Given the description of an element on the screen output the (x, y) to click on. 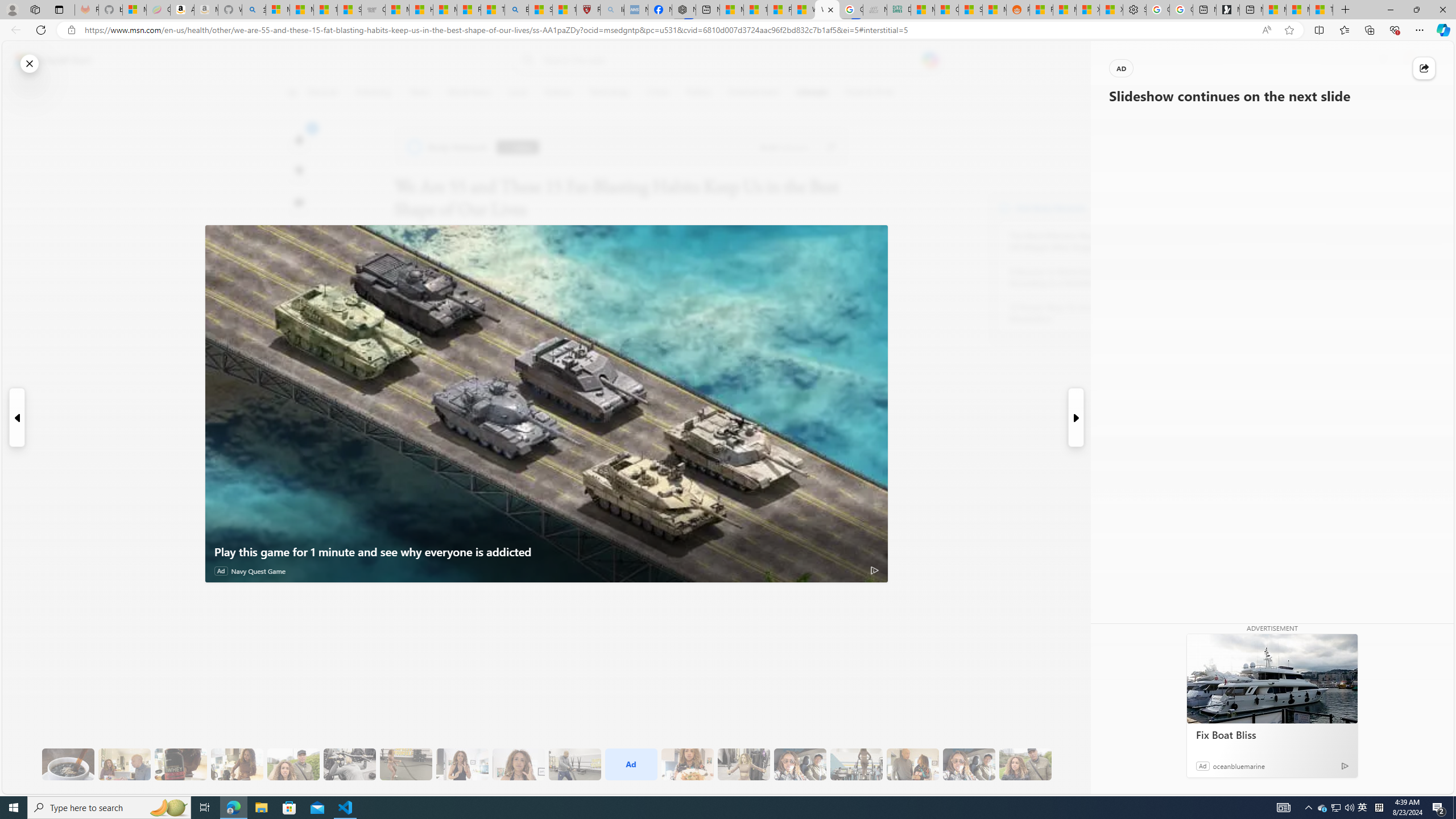
11 They Eat More Protein for Breakfast (462, 764)
18 It's More Fun Doing It with Someone Else (912, 764)
Fix Boat Bliss (1271, 735)
